Given the description of an element on the screen output the (x, y) to click on. 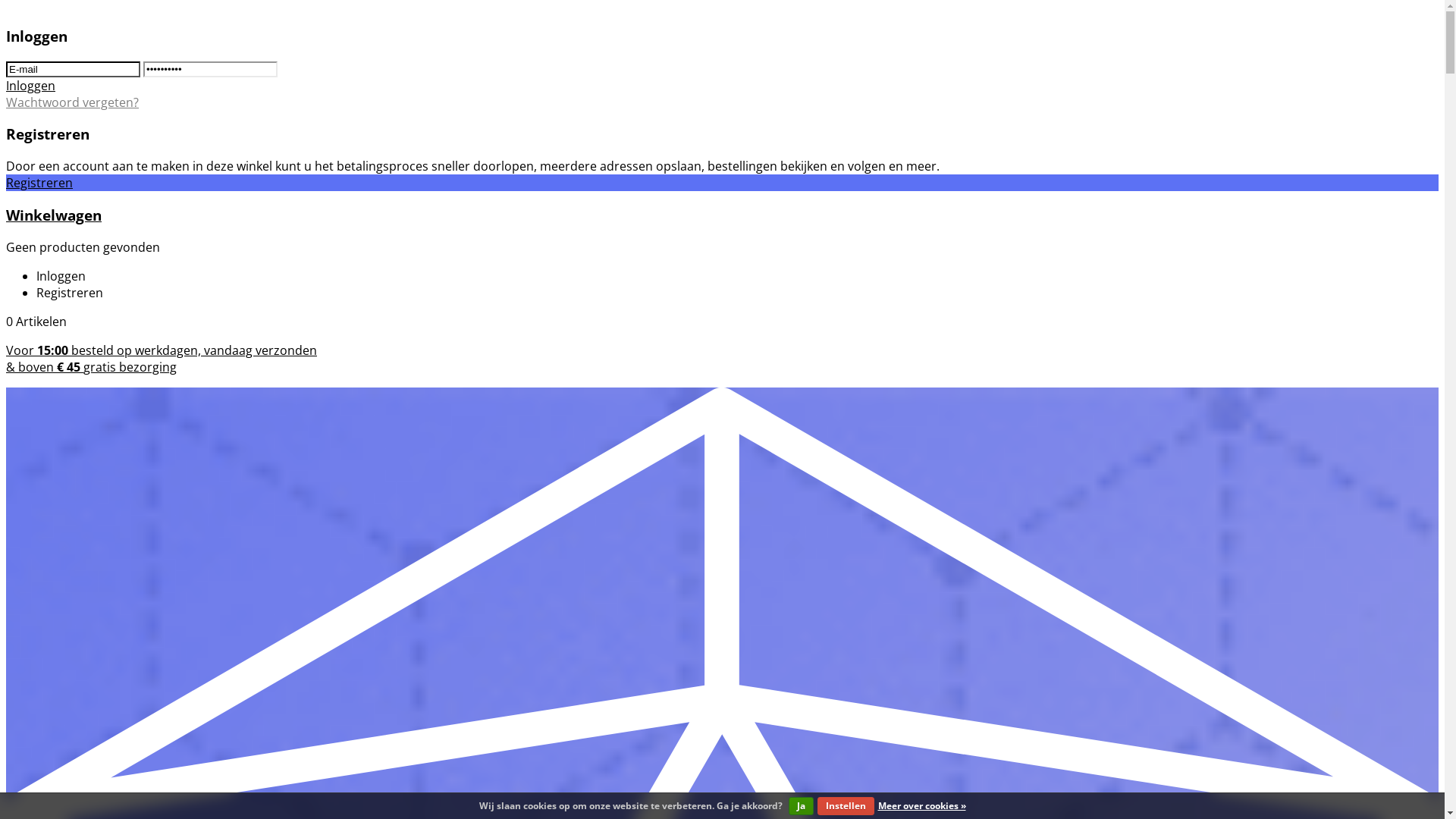
Inloggen Element type: text (36, 35)
Ja Element type: text (800, 806)
Registreren Element type: text (69, 292)
Wachtwoord vergeten? Element type: text (72, 102)
Instellen Element type: text (845, 806)
Inloggen Element type: text (60, 275)
Inloggen Element type: text (30, 85)
0 Artikelen Element type: text (36, 321)
Registreren Element type: text (39, 182)
Registreren Element type: text (47, 133)
Winkelwagen Element type: text (53, 214)
